Given the description of an element on the screen output the (x, y) to click on. 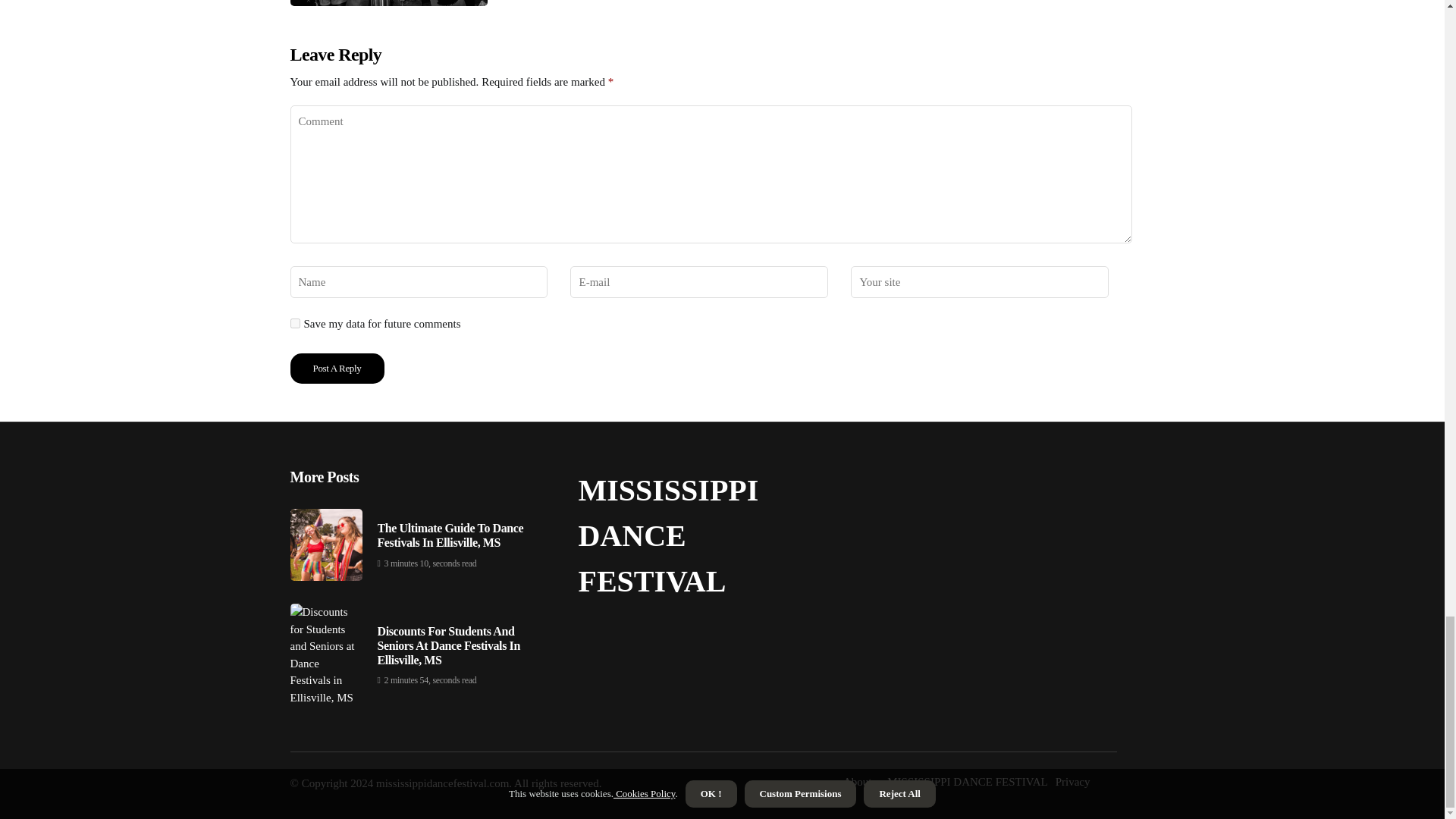
yes (294, 323)
Post a Reply (336, 368)
Post a Reply (336, 368)
